Given the description of an element on the screen output the (x, y) to click on. 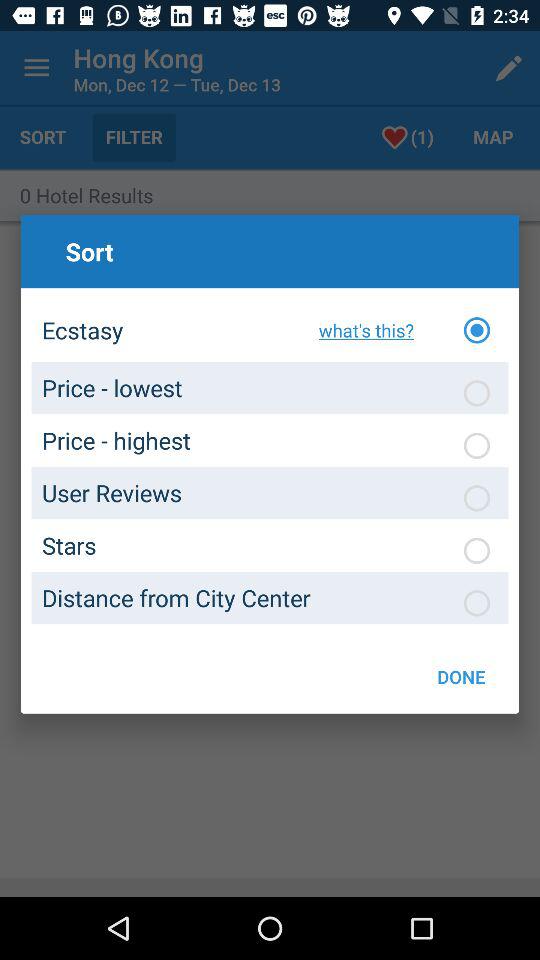
open the icon next to ecstasy (360, 330)
